Given the description of an element on the screen output the (x, y) to click on. 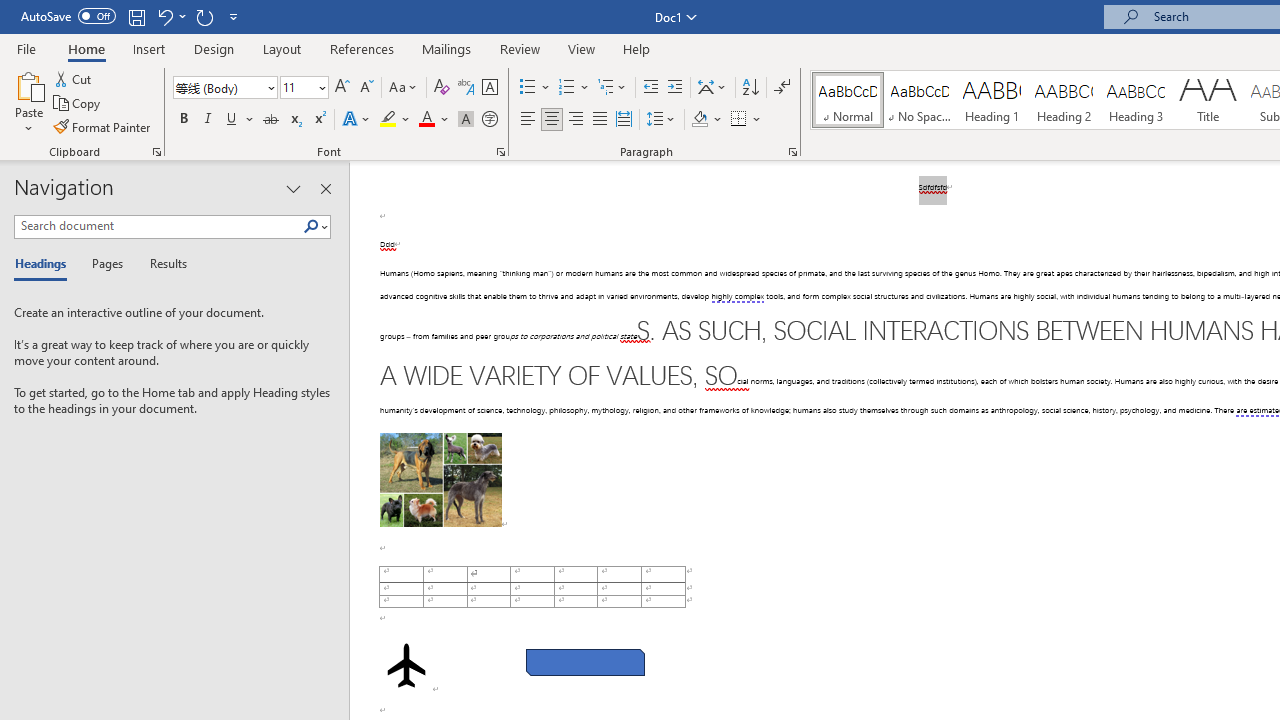
Undo Paragraph Alignment (164, 15)
